Given the description of an element on the screen output the (x, y) to click on. 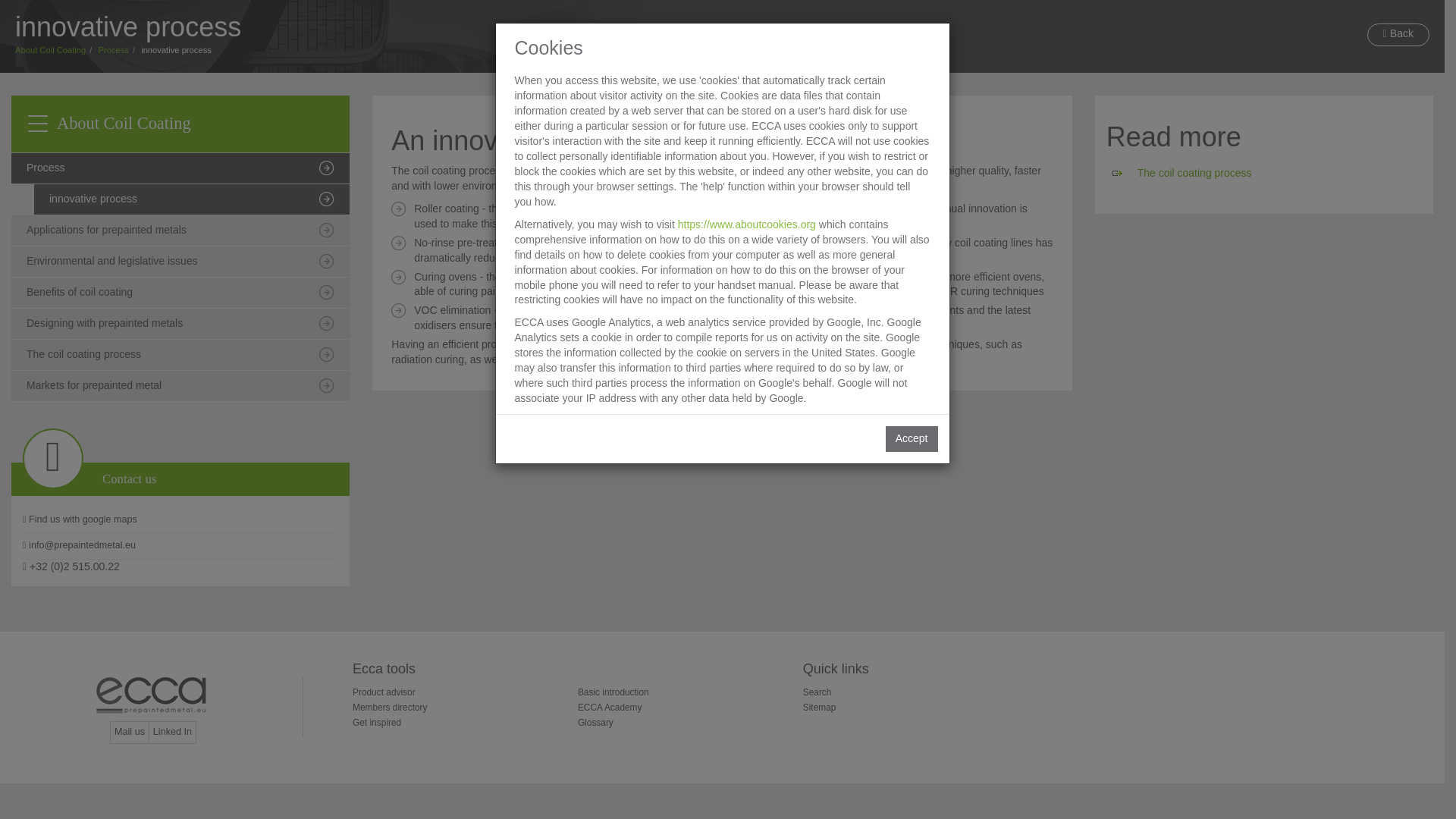
Mail us (129, 732)
innovative process (191, 199)
Environmental and legislative issues (180, 261)
Process (114, 49)
Process (180, 168)
Find us with google maps (180, 519)
Designing with prepainted metals (180, 323)
Linked In (172, 732)
Applications for prepainted metals (180, 230)
Product advisor (383, 692)
About Coil Coating (49, 49)
Markets for prepainted metal (180, 386)
Benefits of coil coating (180, 292)
Back (1398, 34)
The coil coating process (1194, 173)
